Given the description of an element on the screen output the (x, y) to click on. 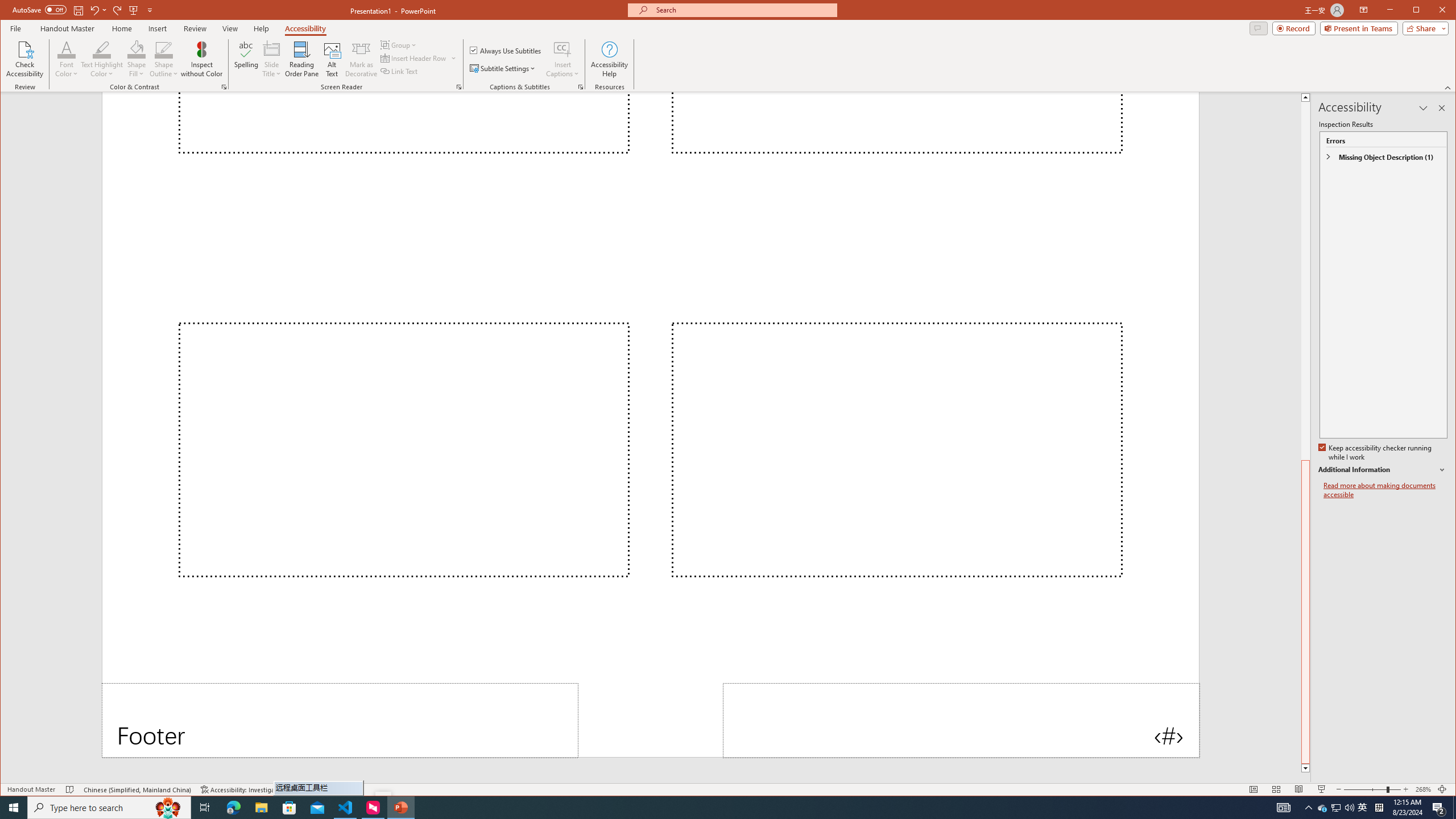
Check Accessibility (25, 59)
